Given the description of an element on the screen output the (x, y) to click on. 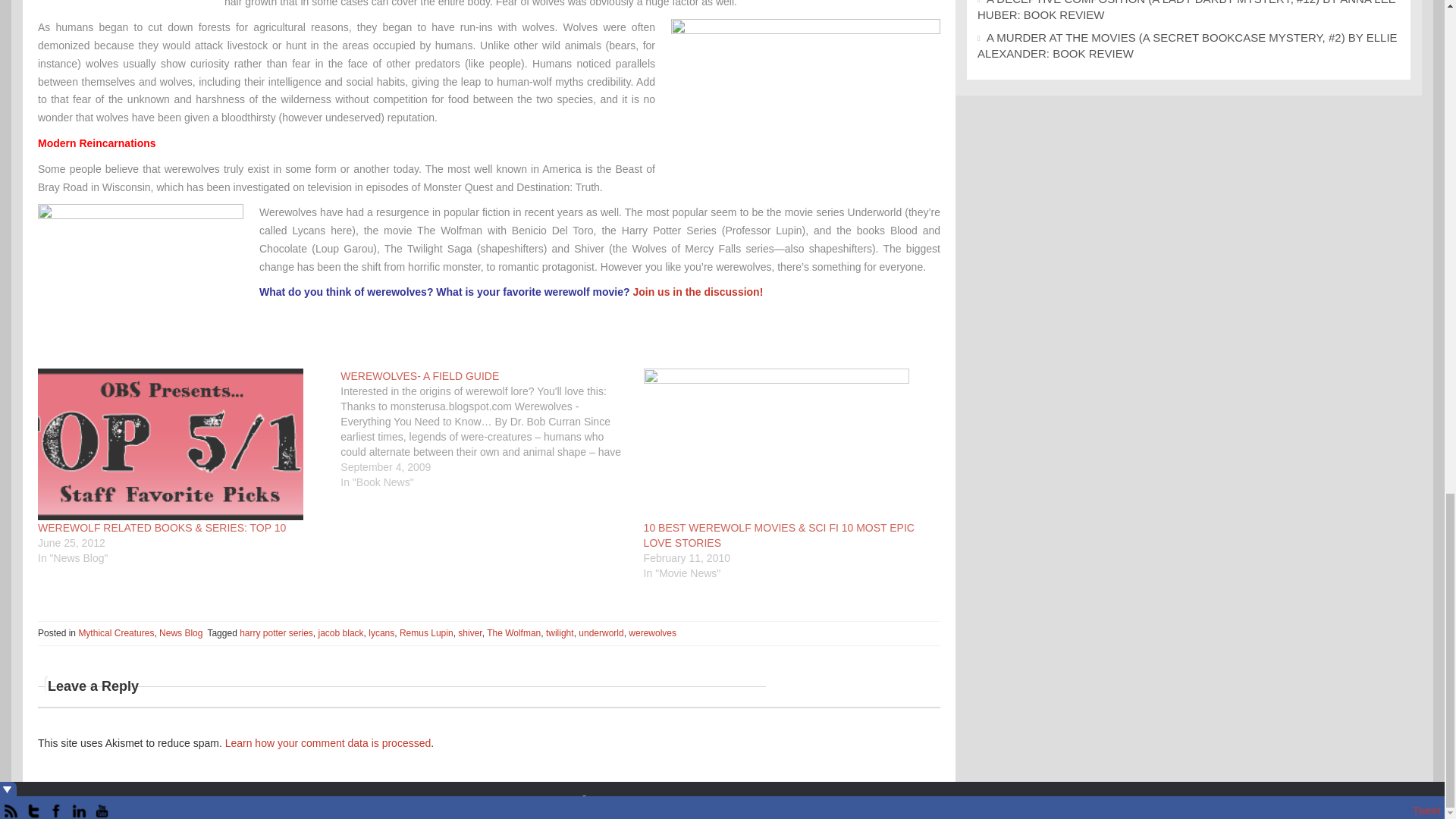
WEREWOLVES- A FIELD GUIDE (419, 376)
WEREWOLVES- A FIELD GUIDE (491, 428)
